Given the description of an element on the screen output the (x, y) to click on. 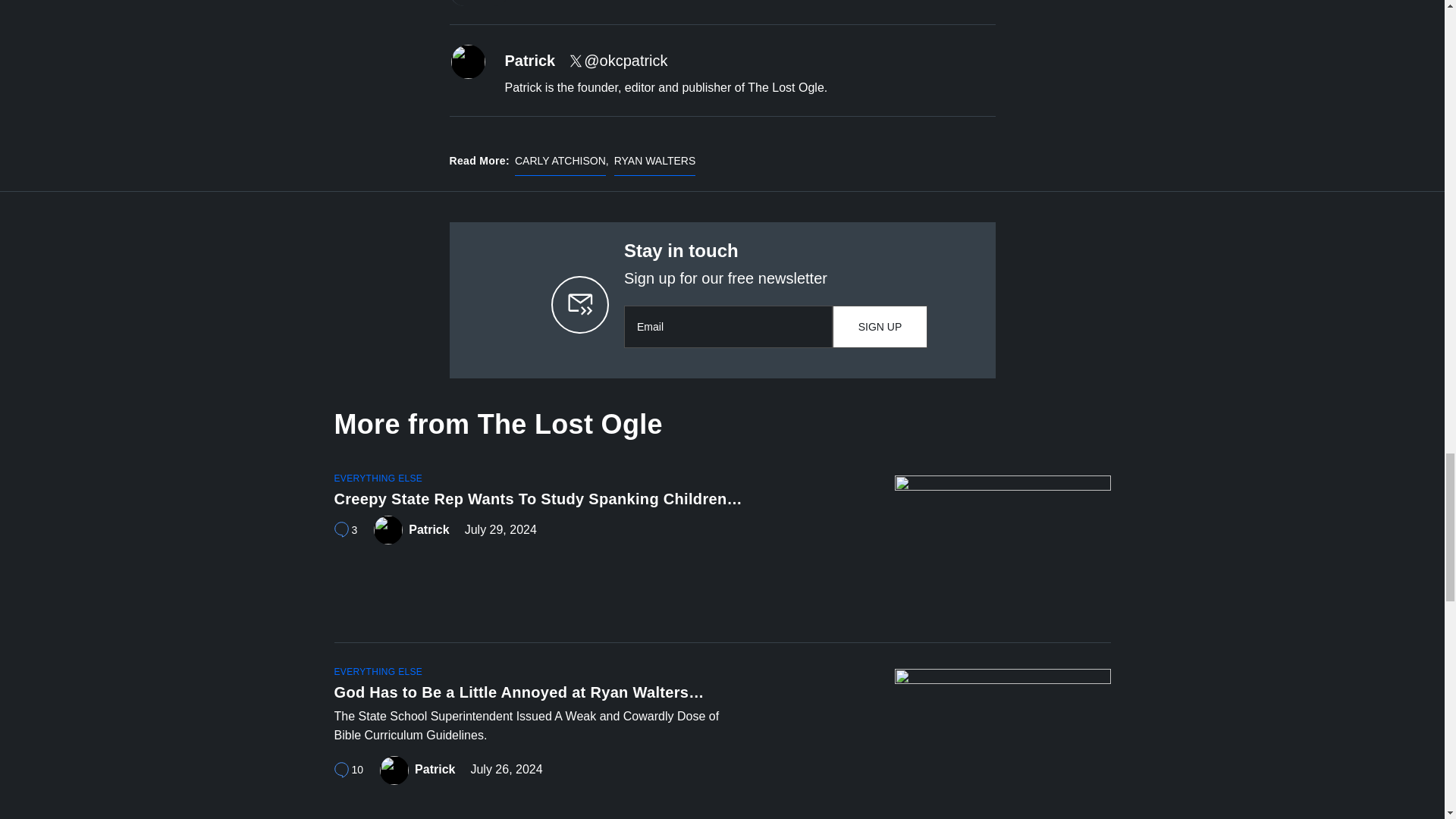
Share on Facebook (464, 2)
